Given the description of an element on the screen output the (x, y) to click on. 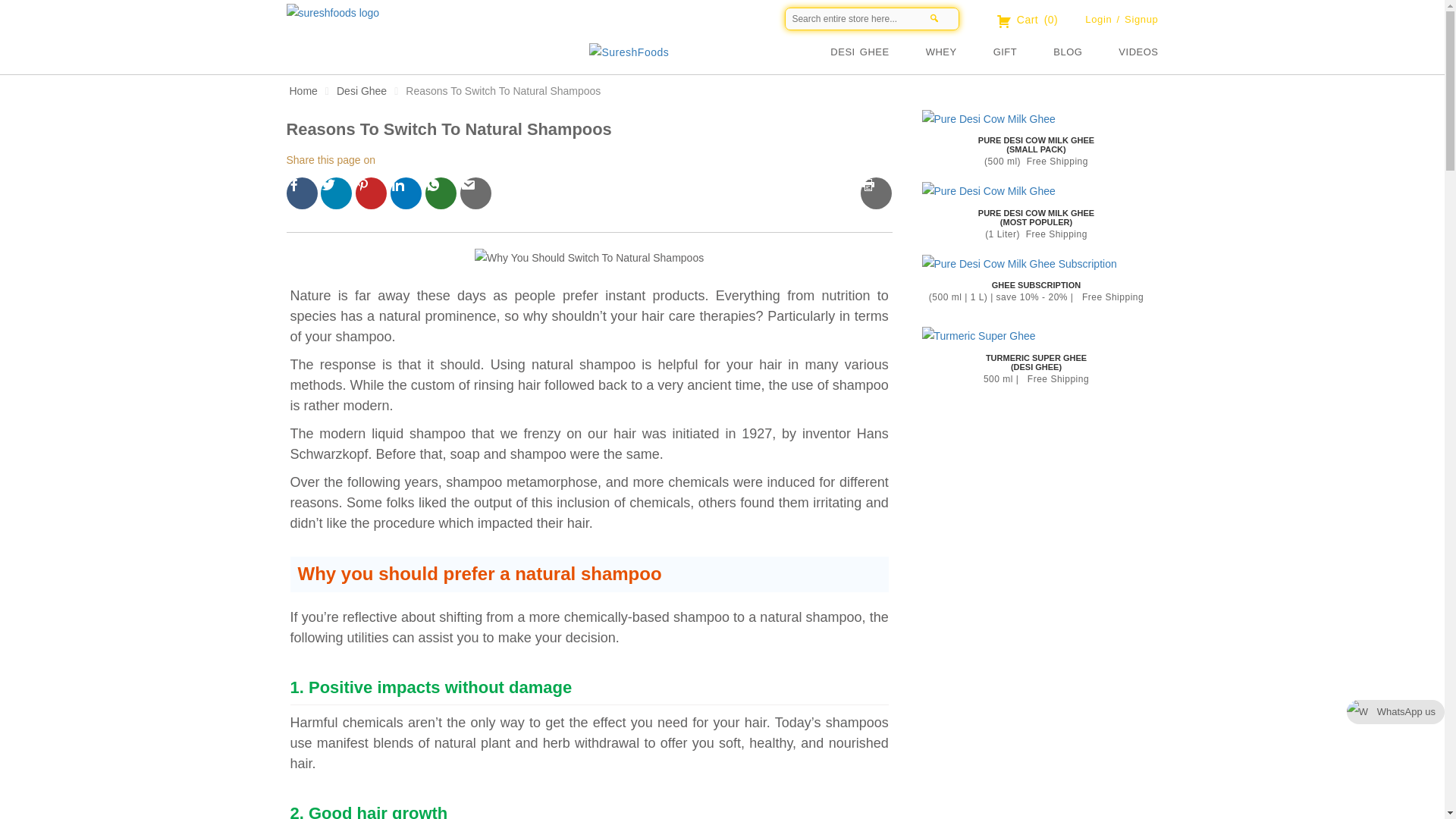
DESI GHEE (876, 51)
Pure Desi Cow Milk Ghee Subscription (1018, 263)
VIDEOS (1137, 51)
Home (624, 49)
Turmeric Super Ghee (978, 335)
Pure Desi Cow Milk Ghee (988, 118)
Home (303, 91)
GIFT (1023, 51)
Desi Ghee (361, 91)
